Given the description of an element on the screen output the (x, y) to click on. 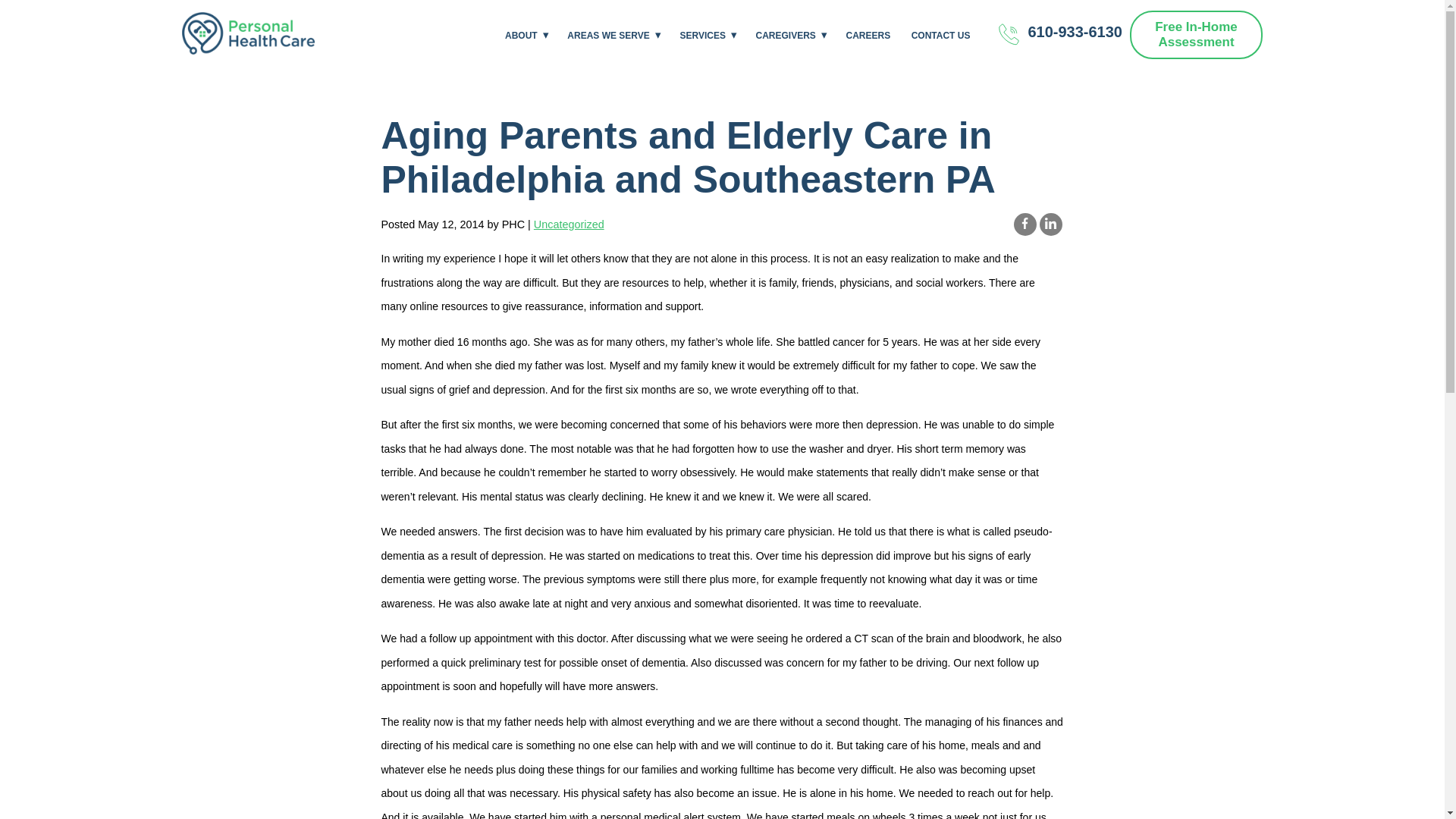
Uncategorized (569, 224)
CAREGIVERS (786, 35)
Free In-Home Assessment (1195, 34)
ABOUT (521, 35)
610-933-6130 (1053, 34)
Share on LinkedIn (1050, 223)
CONTACT US (940, 35)
Share on Facebook (1024, 223)
AREAS WE SERVE (607, 35)
CAREERS (867, 35)
